Given the description of an element on the screen output the (x, y) to click on. 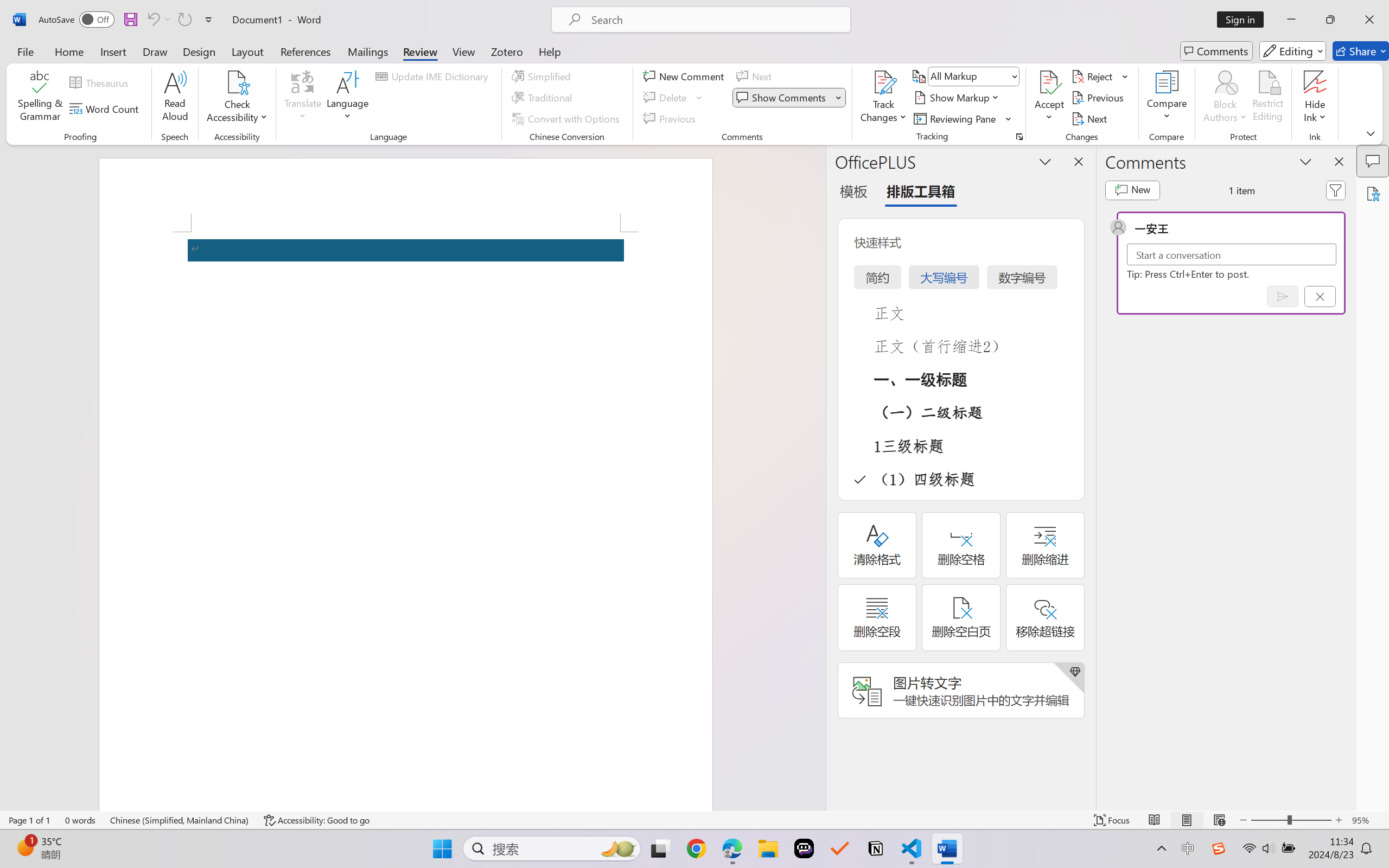
Read Aloud (174, 97)
Accessibility Assistant (1373, 193)
Delete (673, 97)
Post comment (Ctrl + Enter) (1282, 296)
Reject and Move to Next (1093, 75)
Convert with Options... (567, 118)
Undo Apply Quick Style Set (158, 19)
